Given the description of an element on the screen output the (x, y) to click on. 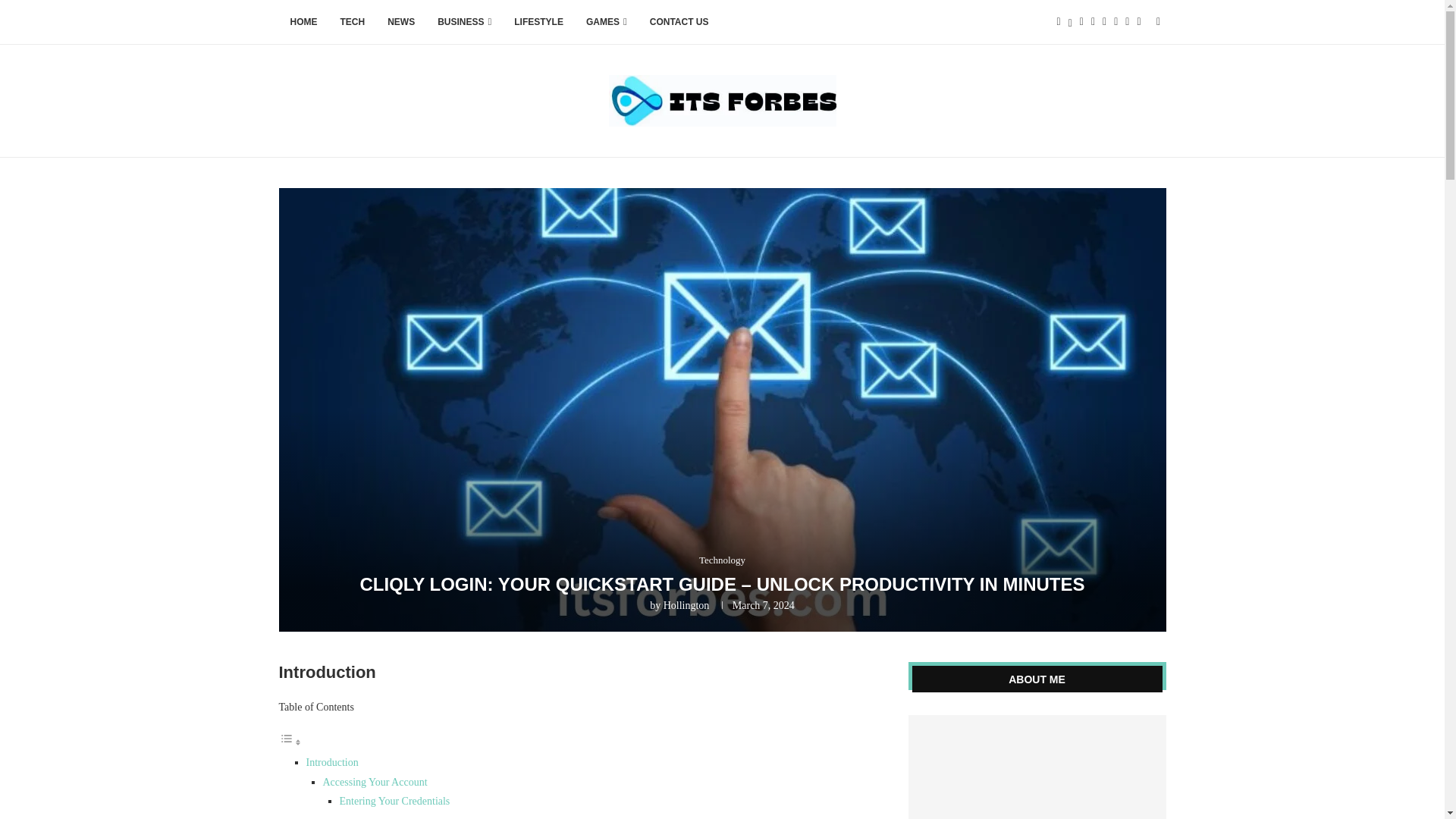
BUSINESS (464, 22)
GAMES (607, 22)
Introduction (331, 762)
Introduction (331, 762)
Technology (721, 560)
CONTACT US (679, 22)
Accessing Your Account (375, 781)
Accessing Your Account (375, 781)
Entering Your Credentials (394, 800)
Hollington (686, 604)
LIFESTYLE (538, 22)
NEWS (400, 22)
TECH (353, 22)
